Given the description of an element on the screen output the (x, y) to click on. 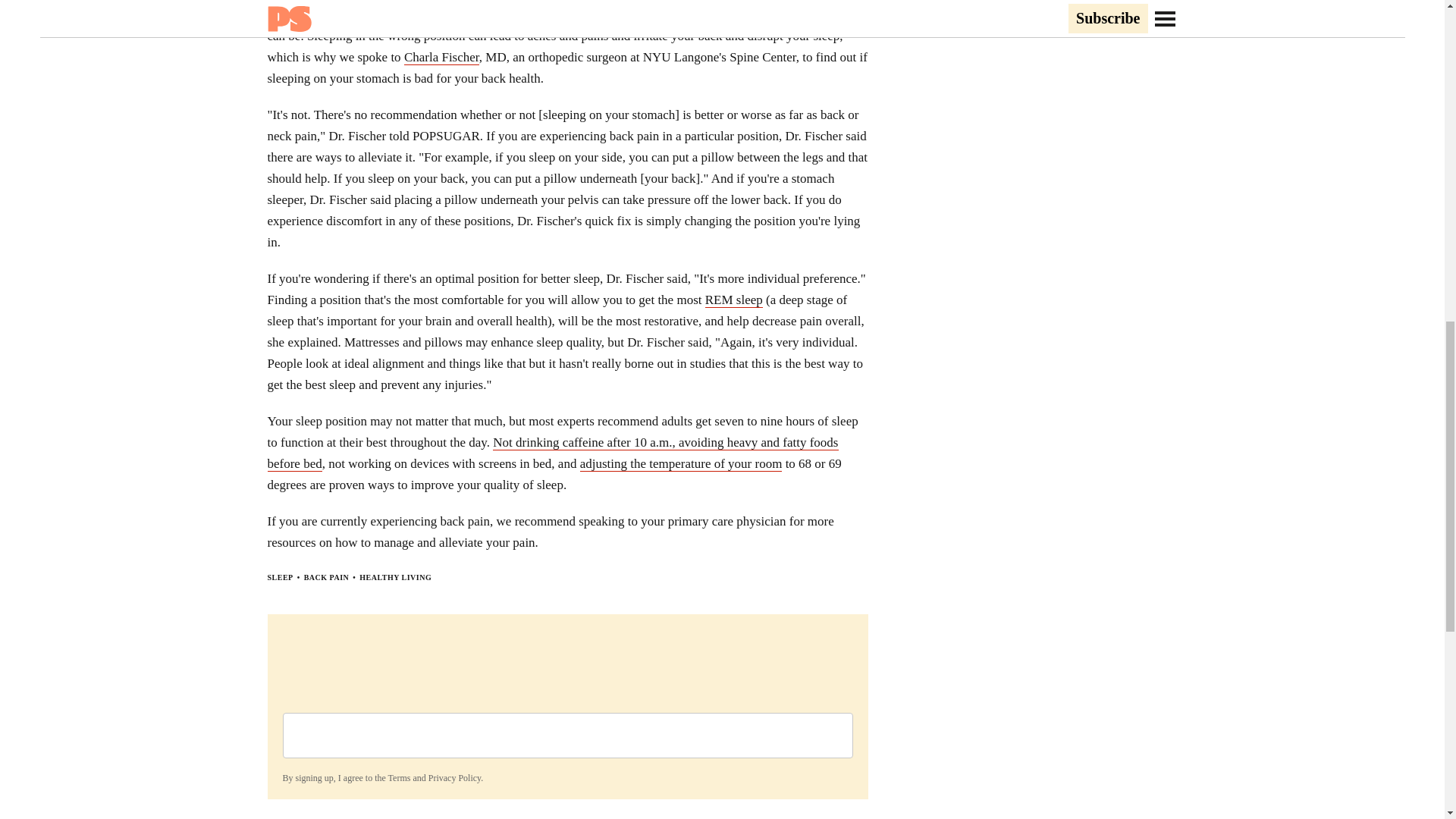
BACK PAIN (326, 577)
Privacy Policy. (455, 777)
Charla Fischer (441, 57)
HEALTHY LIVING (394, 577)
nearly 31 million Americans who are experiencing back pain (525, 14)
REM sleep (733, 299)
SLEEP (279, 577)
Terms (399, 777)
adjusting the temperature of your room (681, 463)
